Given the description of an element on the screen output the (x, y) to click on. 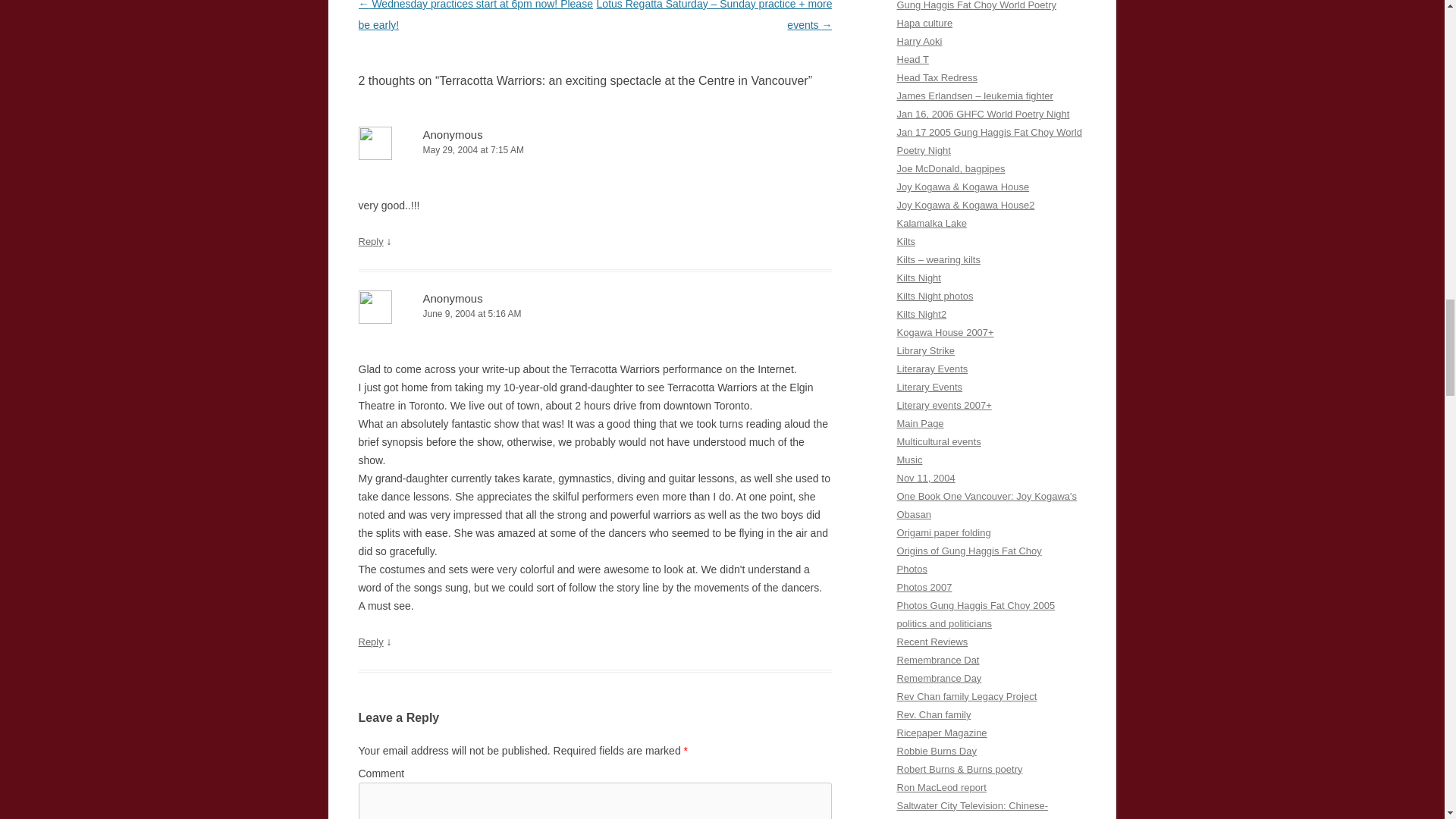
June 9, 2004 at 5:16 AM (594, 314)
Reply (370, 241)
Reply (370, 641)
May 29, 2004 at 7:15 AM (594, 150)
